Given the description of an element on the screen output the (x, y) to click on. 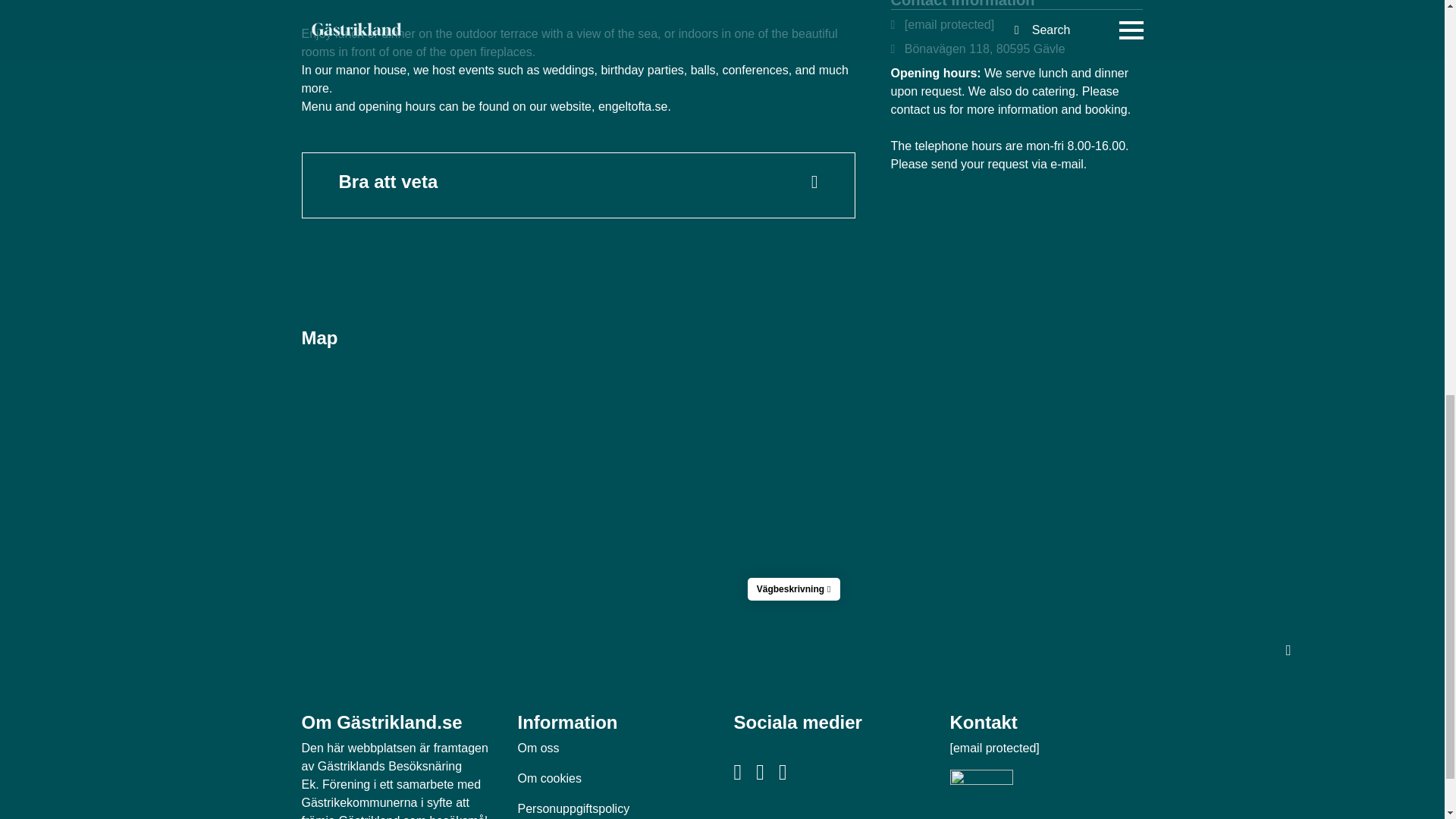
Personuppgiftspolicy (572, 808)
Om oss (537, 748)
Om cookies (548, 778)
